Given the description of an element on the screen output the (x, y) to click on. 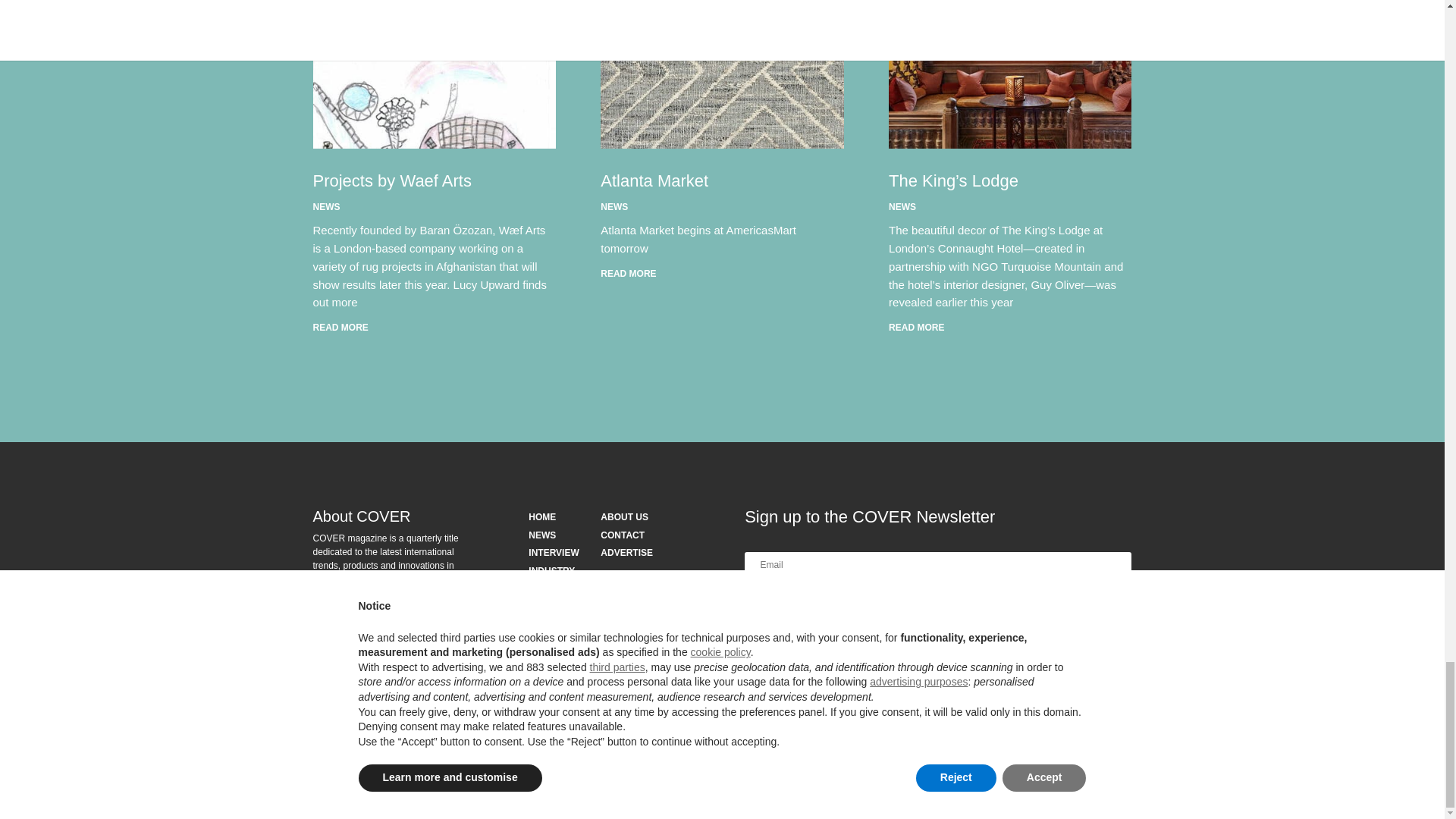
Follow on X (384, 737)
Follow on Facebook (354, 737)
Follow on Instagram (324, 737)
